Given the description of an element on the screen output the (x, y) to click on. 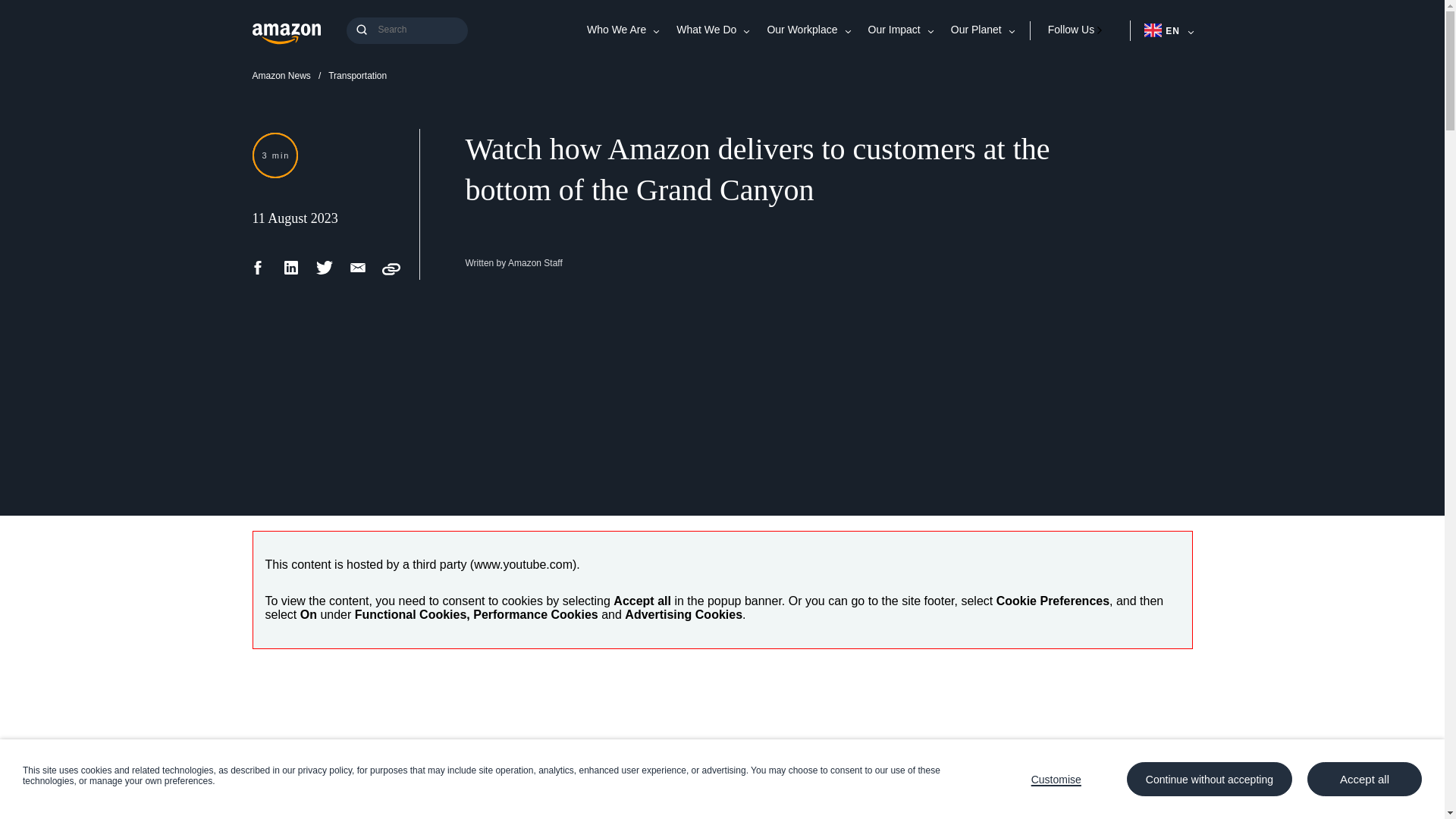
Facebook Share (257, 272)
Email Share (357, 272)
Twitter Share (324, 272)
LinkedIn Share (290, 272)
